Given the description of an element on the screen output the (x, y) to click on. 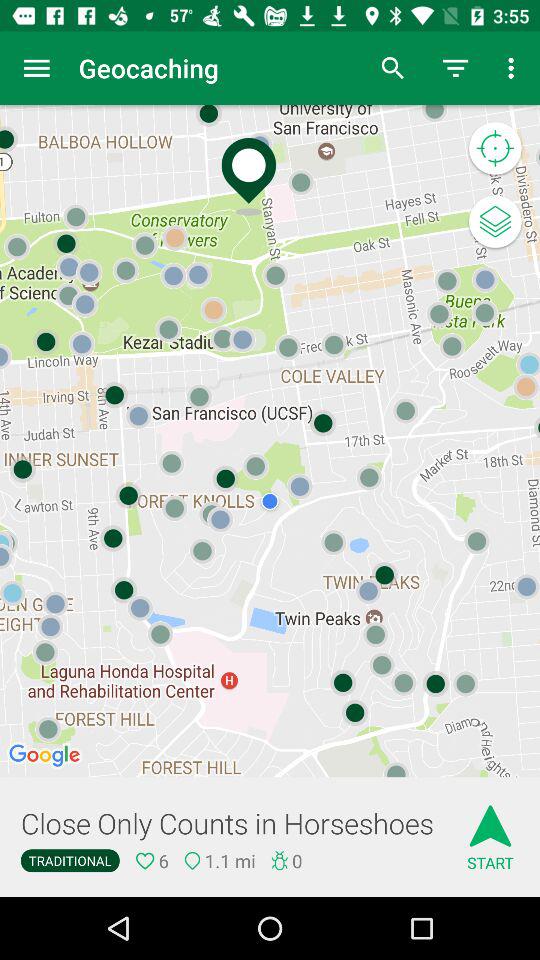
tap the item next to the close only counts icon (490, 830)
